Given the description of an element on the screen output the (x, y) to click on. 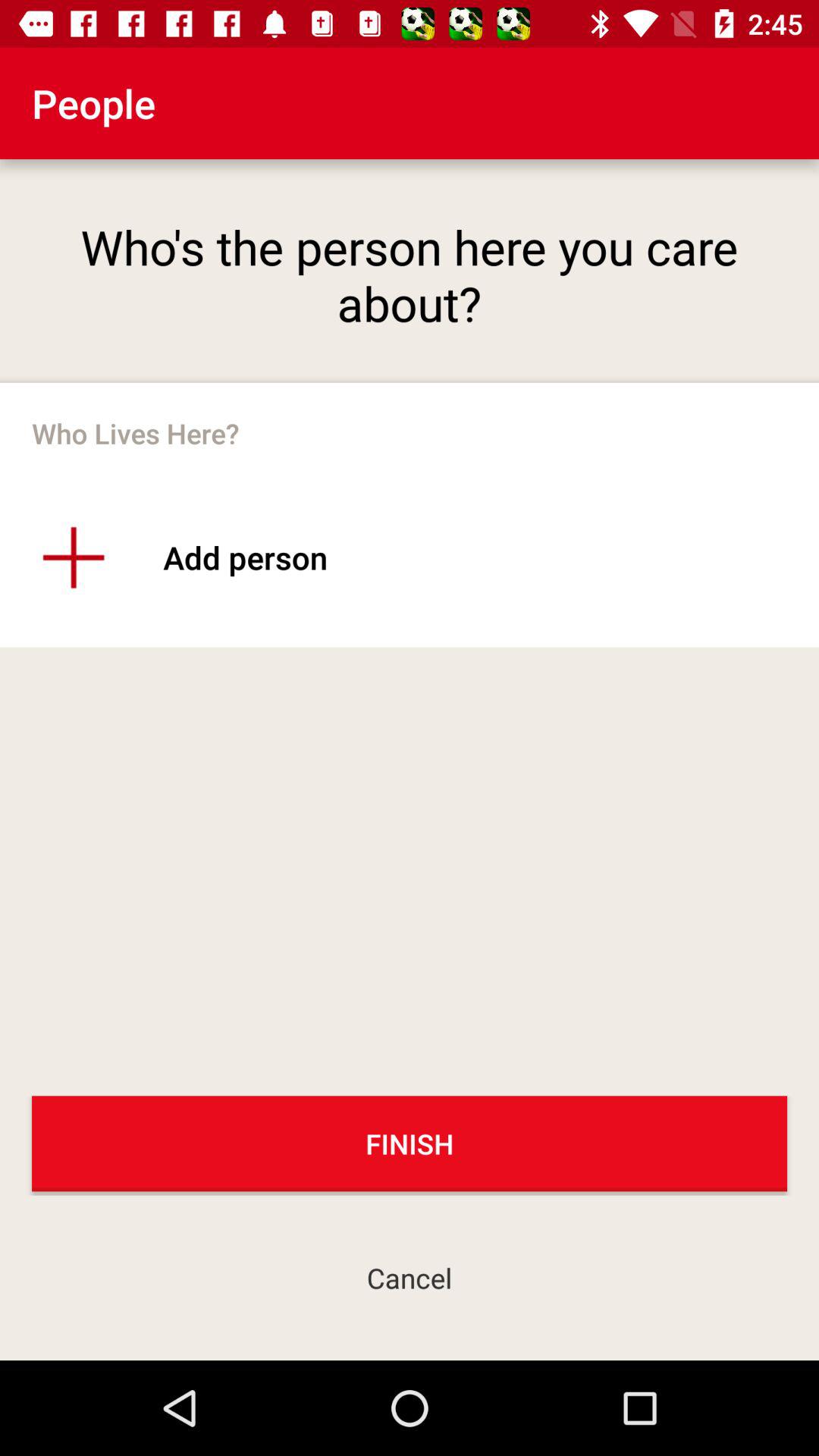
choose the icon above cancel item (409, 1143)
